Given the description of an element on the screen output the (x, y) to click on. 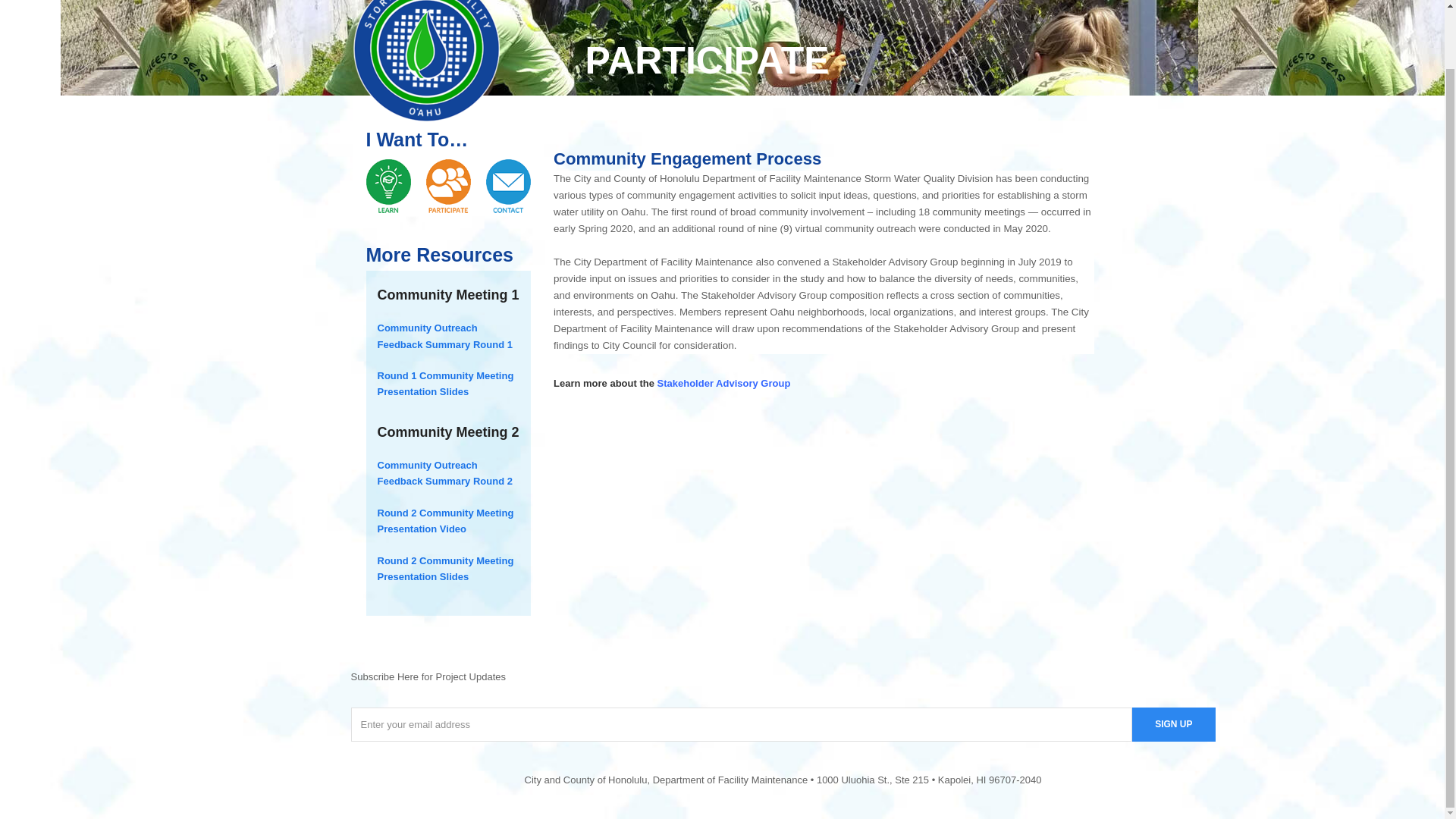
Page 1 (782, 779)
Storm Water Utility, Oahu logo (426, 62)
Round 2 Community Meeting Presentation Video (445, 520)
SIGN UP (1173, 724)
Community Outreach Feedback Summary Round 2 (444, 472)
Community Outreach Feedback Summary Round 1 (444, 335)
Round 2 Community Meeting Presentation Slides (445, 568)
Round 1 Community Meeting Presentation Slides (445, 383)
Stakeholder Advisory Group (724, 383)
